Given the description of an element on the screen output the (x, y) to click on. 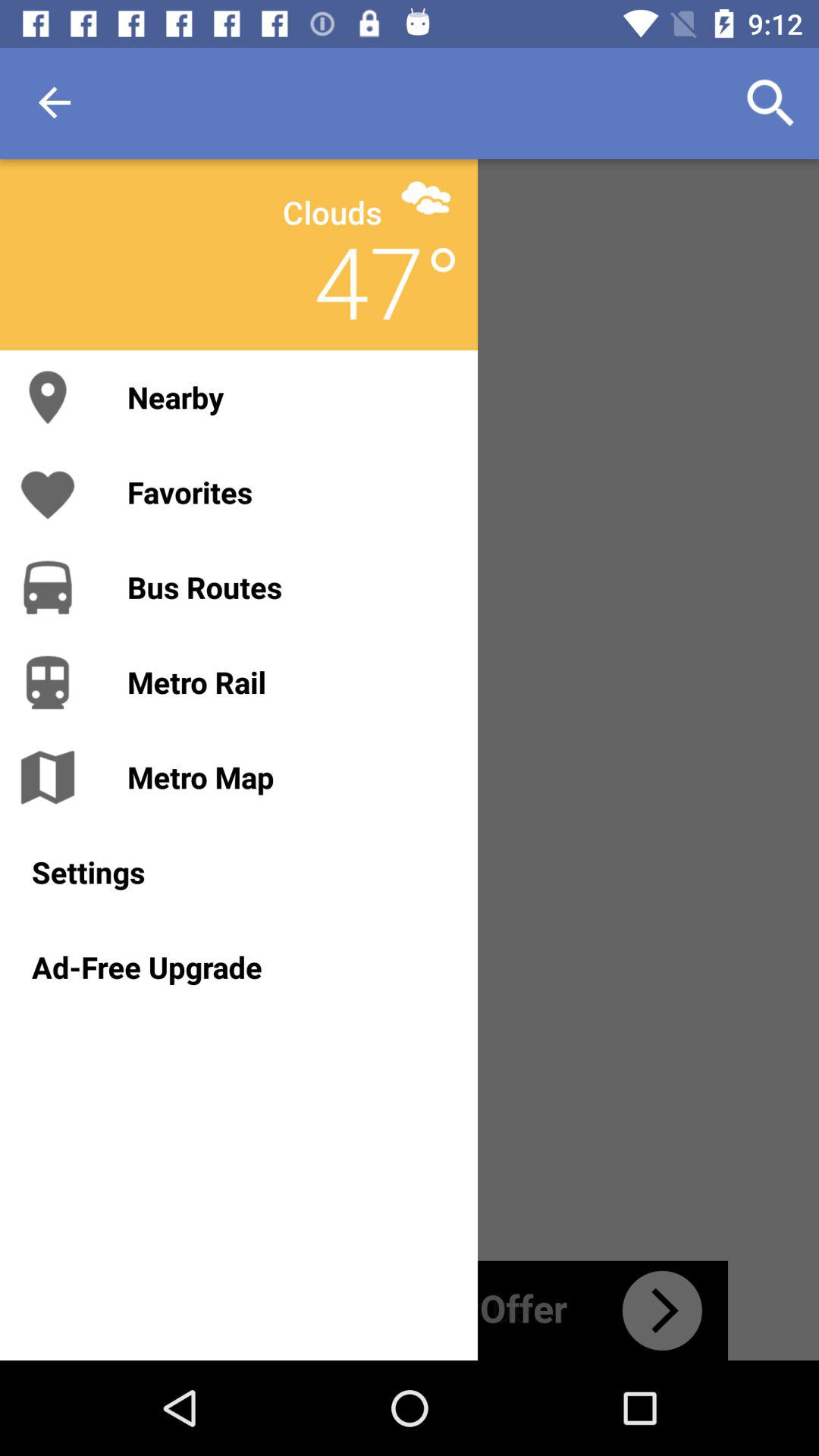
choose the ad-free upgrade icon (238, 966)
